Given the description of an element on the screen output the (x, y) to click on. 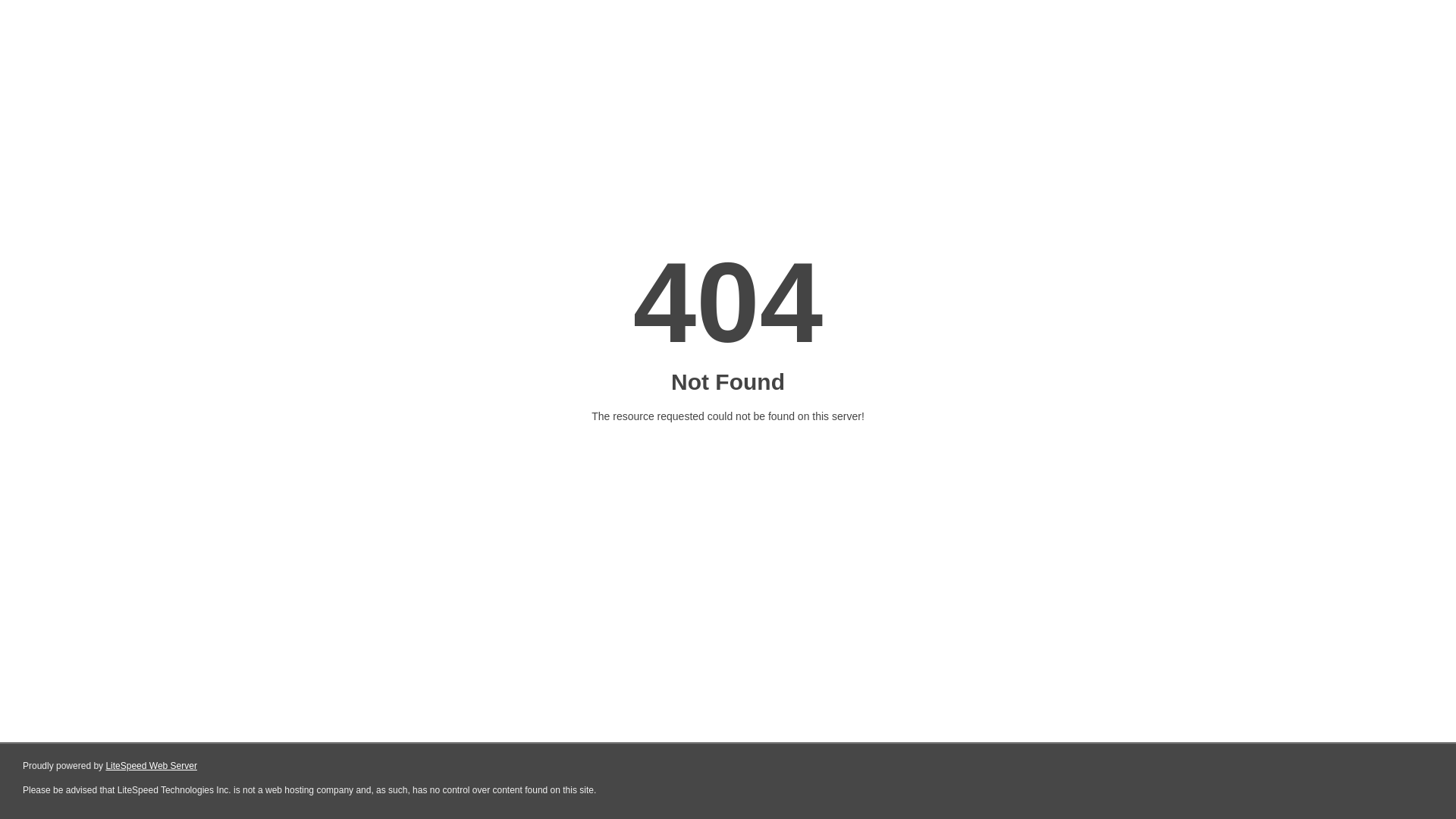
LiteSpeed Web Server Element type: text (151, 765)
